Given the description of an element on the screen output the (x, y) to click on. 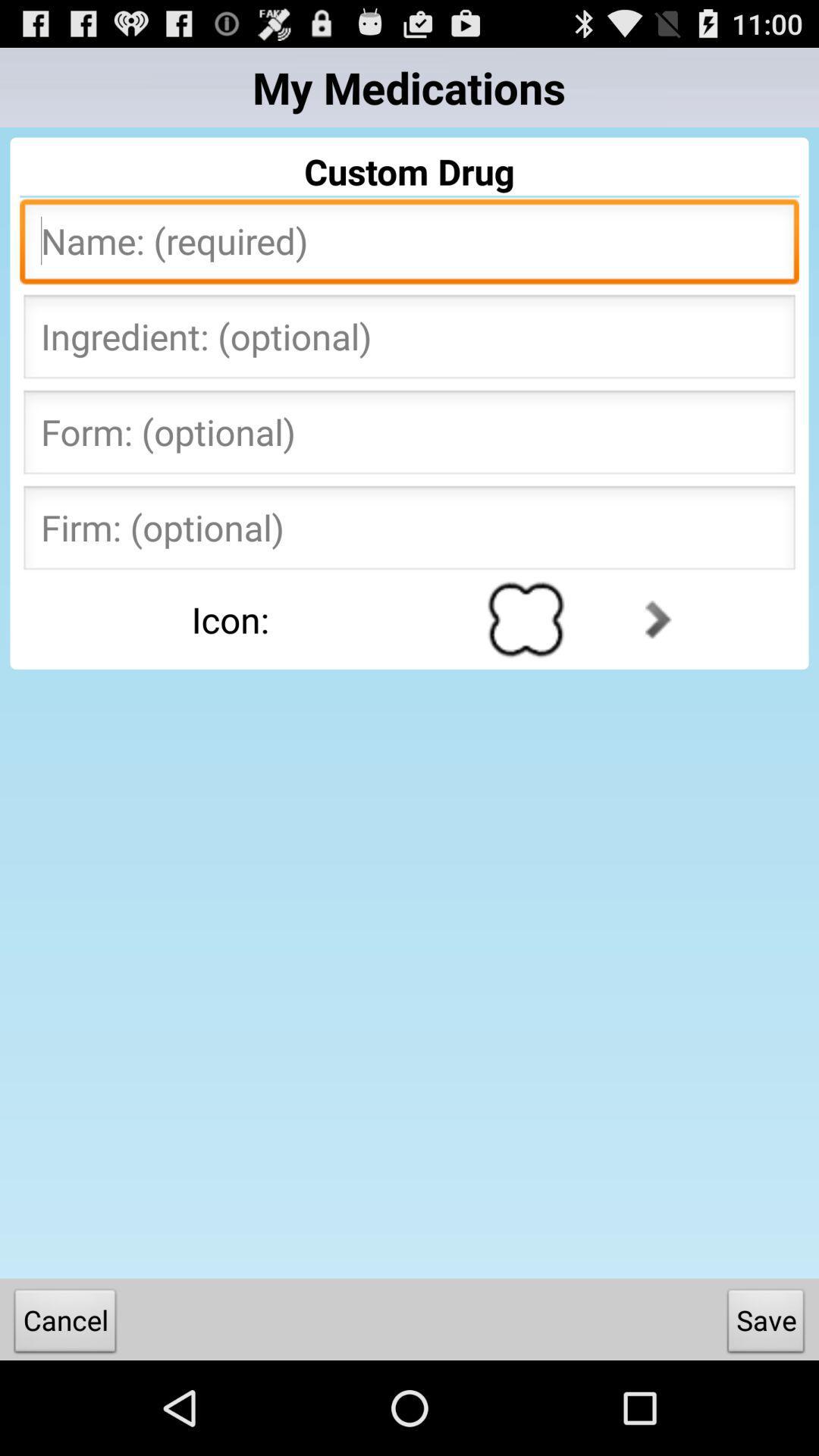
form text box (409, 436)
